Given the description of an element on the screen output the (x, y) to click on. 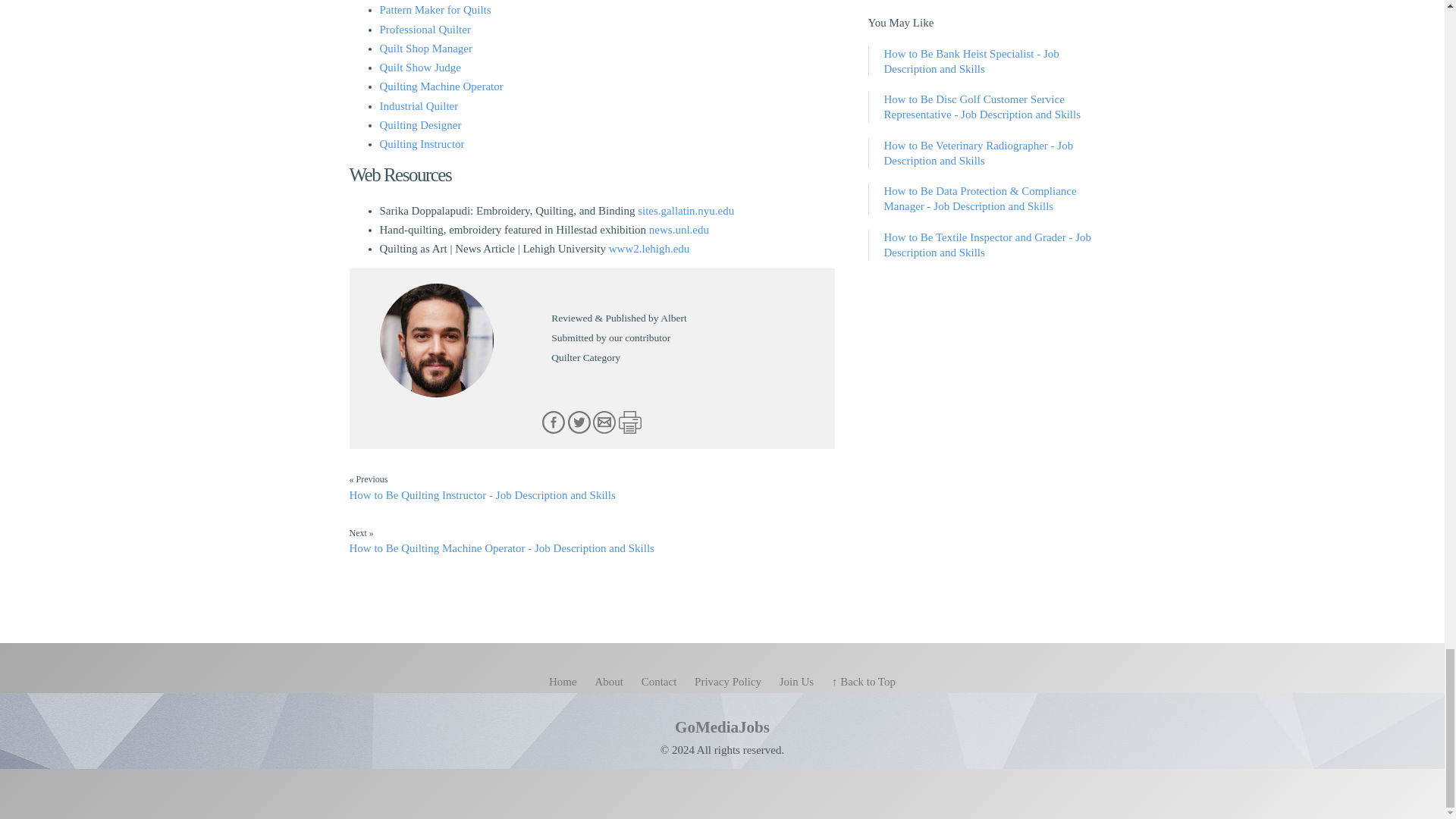
Quilting Designer (419, 124)
www2.lehigh.edu (649, 248)
Quilting Machine Operator (440, 86)
Pattern Maker for Quilts (434, 9)
Industrial Quilter (418, 105)
sites.gallatin.nyu.edu (685, 210)
Quilt Shop Manager (424, 48)
Professional Quilter (424, 29)
Quilting Instructor (421, 143)
Quilt Show Judge (419, 67)
